Given the description of an element on the screen output the (x, y) to click on. 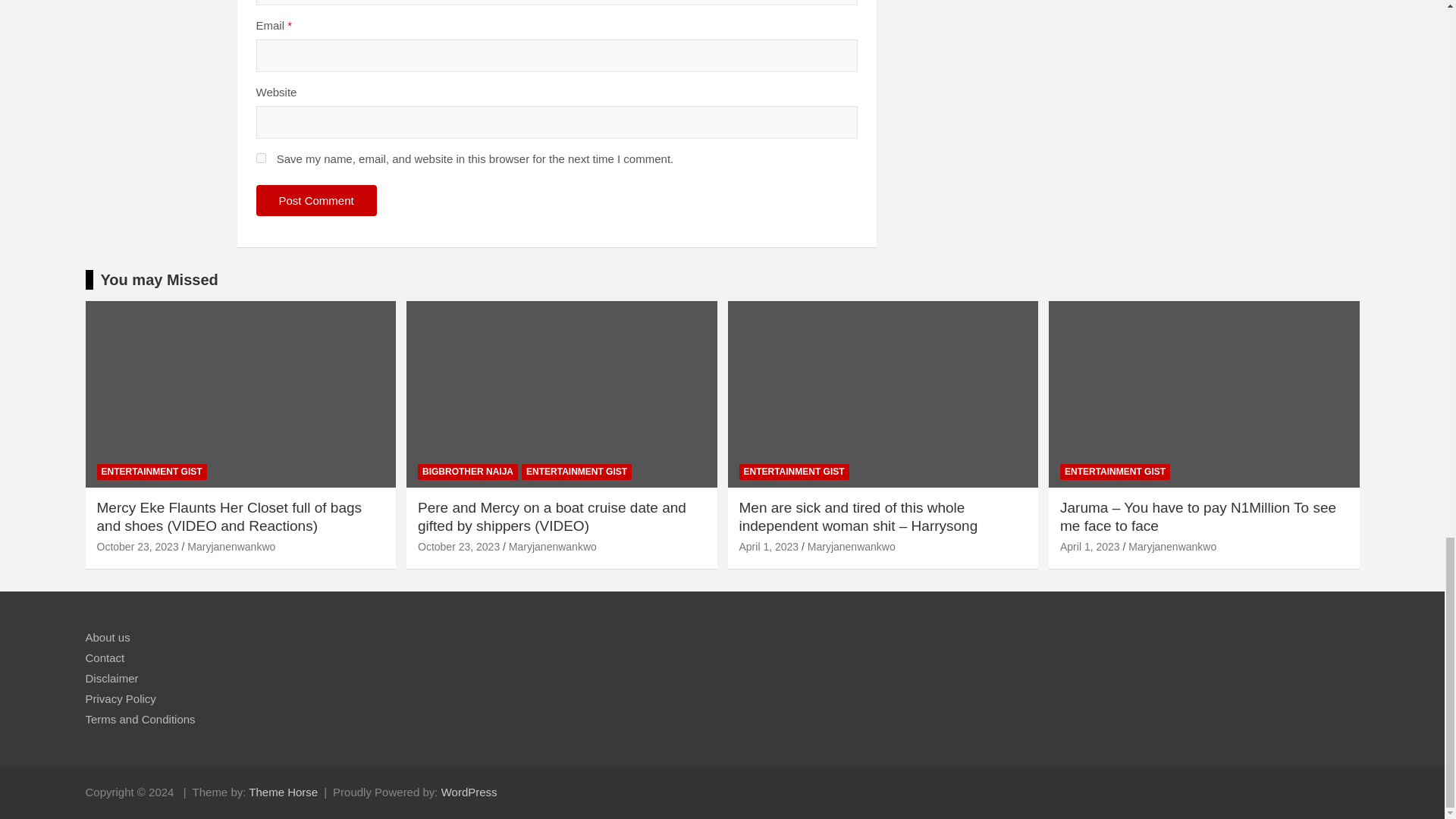
yes (261, 157)
Post Comment (316, 200)
Post Comment (316, 200)
WordPress (469, 791)
Theme Horse (282, 791)
